Given the description of an element on the screen output the (x, y) to click on. 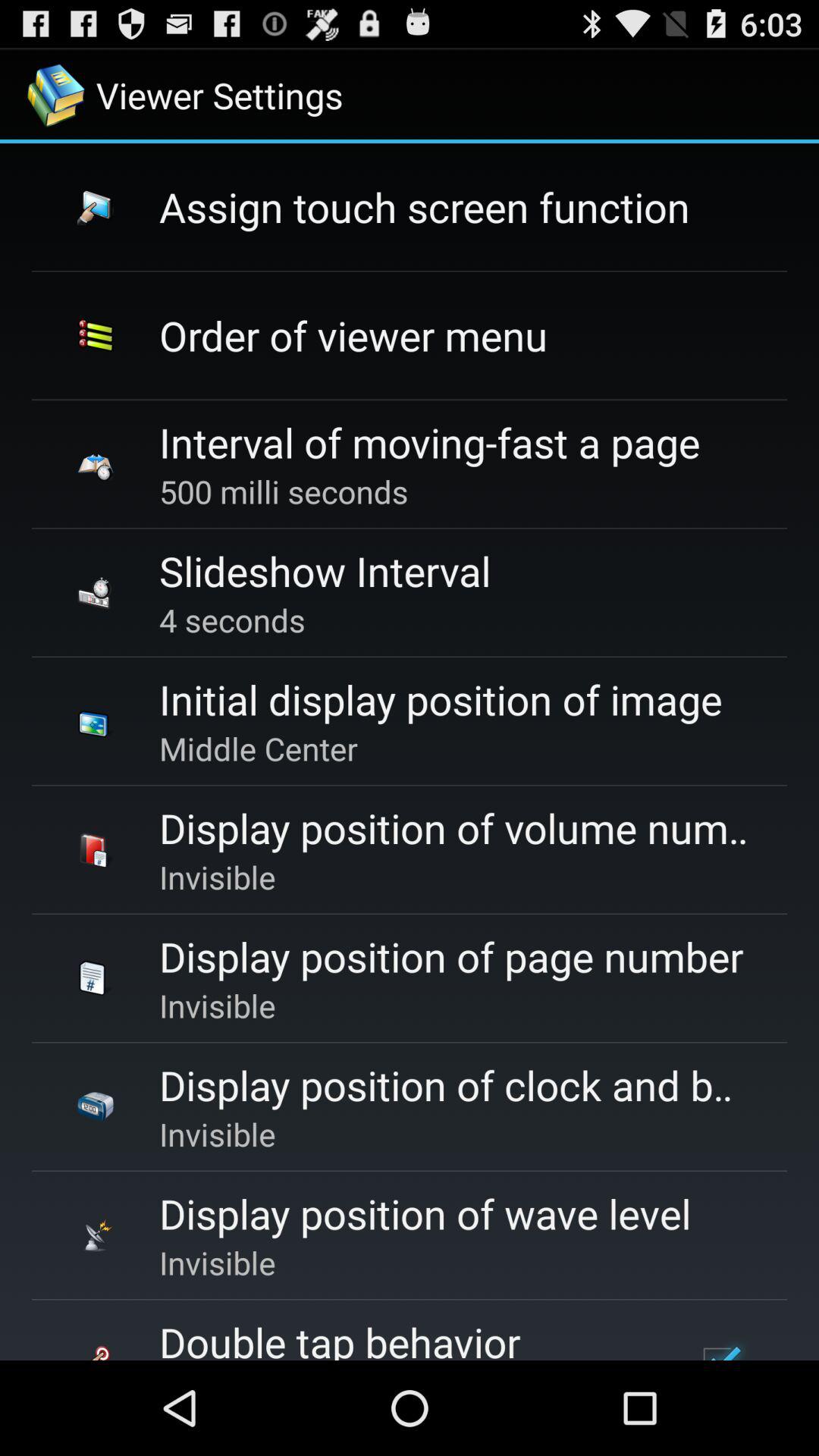
open assign touch screen icon (424, 206)
